Given the description of an element on the screen output the (x, y) to click on. 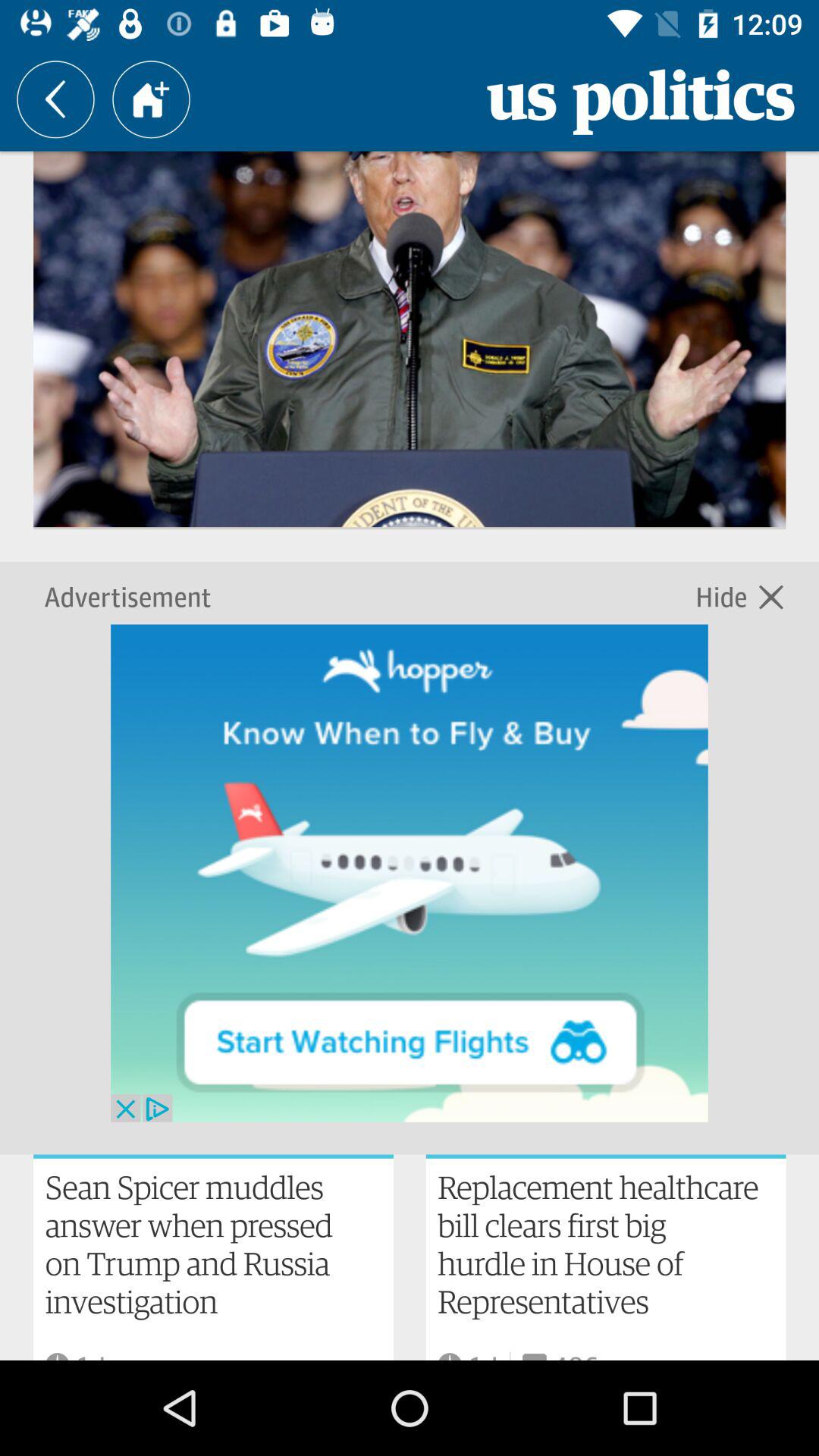
click on hide (725, 595)
click on the cross mark next to hide (770, 595)
click on home icon which is right side of back option (150, 99)
